Given the description of an element on the screen output the (x, y) to click on. 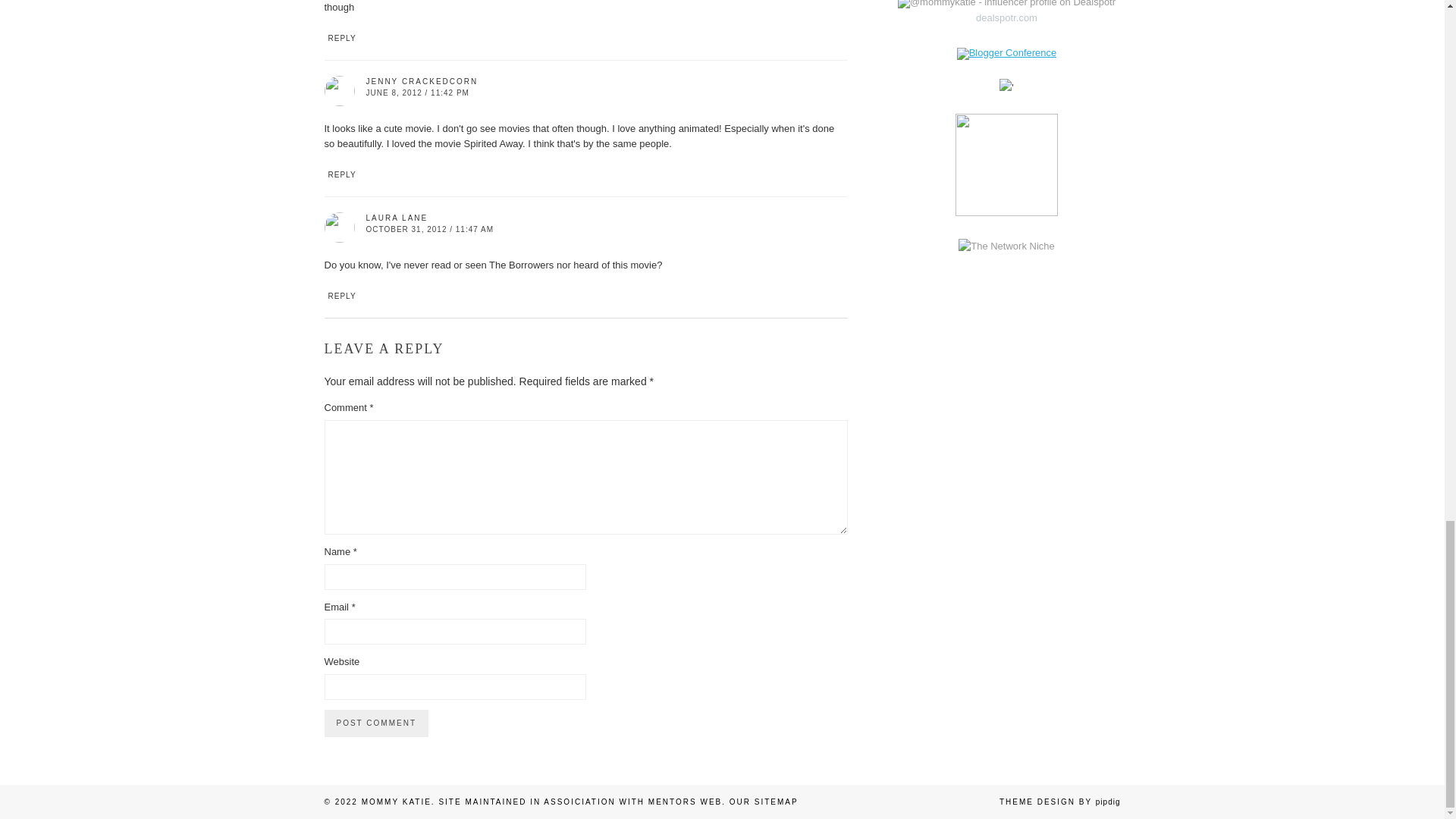
Blogger Conference (1006, 52)
REPLY (341, 295)
The Network Niche (1006, 245)
I Have Massive Sway (1005, 728)
REPLY (341, 174)
Post Comment (376, 723)
Post Comment (376, 723)
REPLY (341, 38)
